Given the description of an element on the screen output the (x, y) to click on. 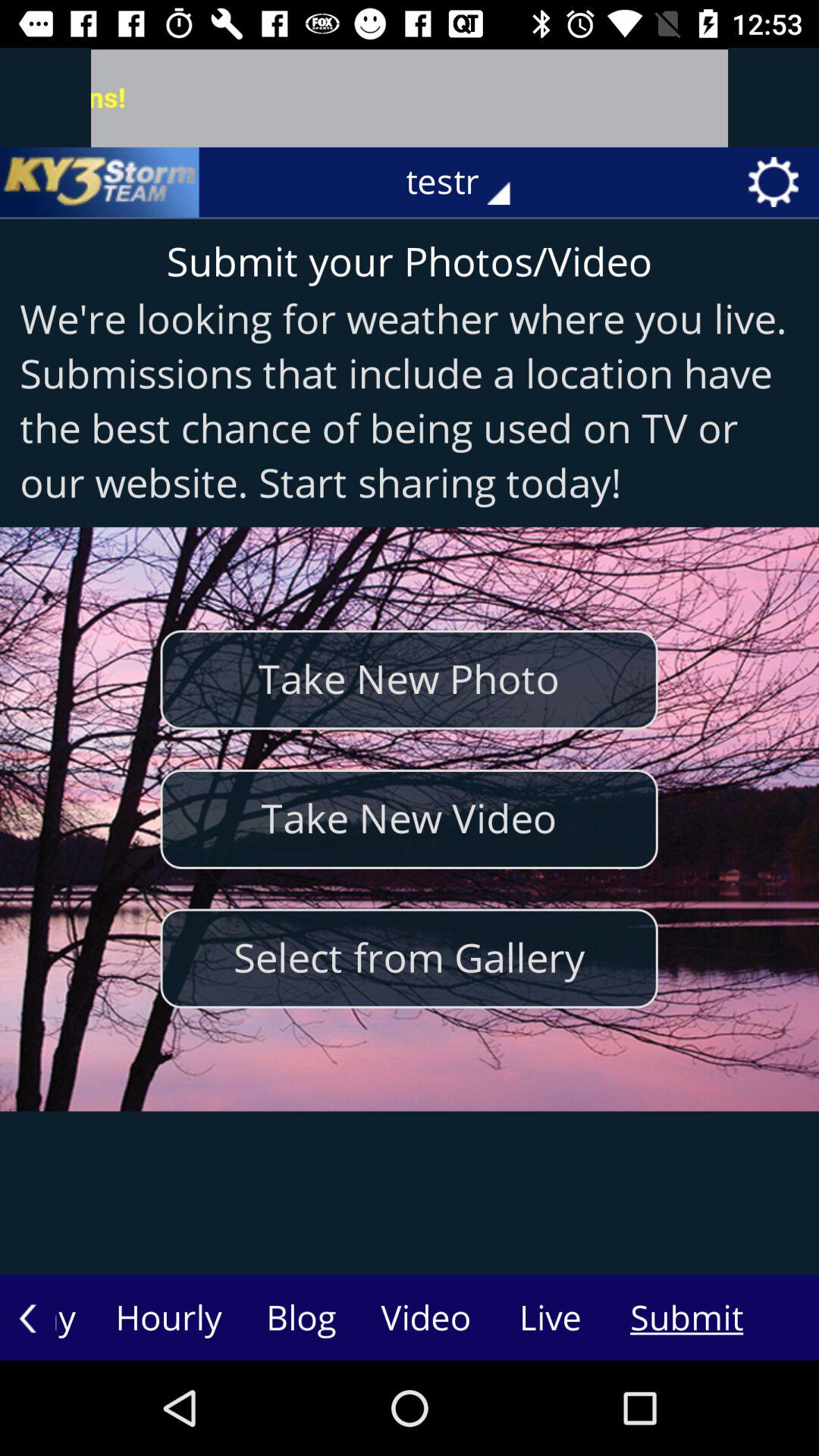
tap select from gallery (409, 958)
